Given the description of an element on the screen output the (x, y) to click on. 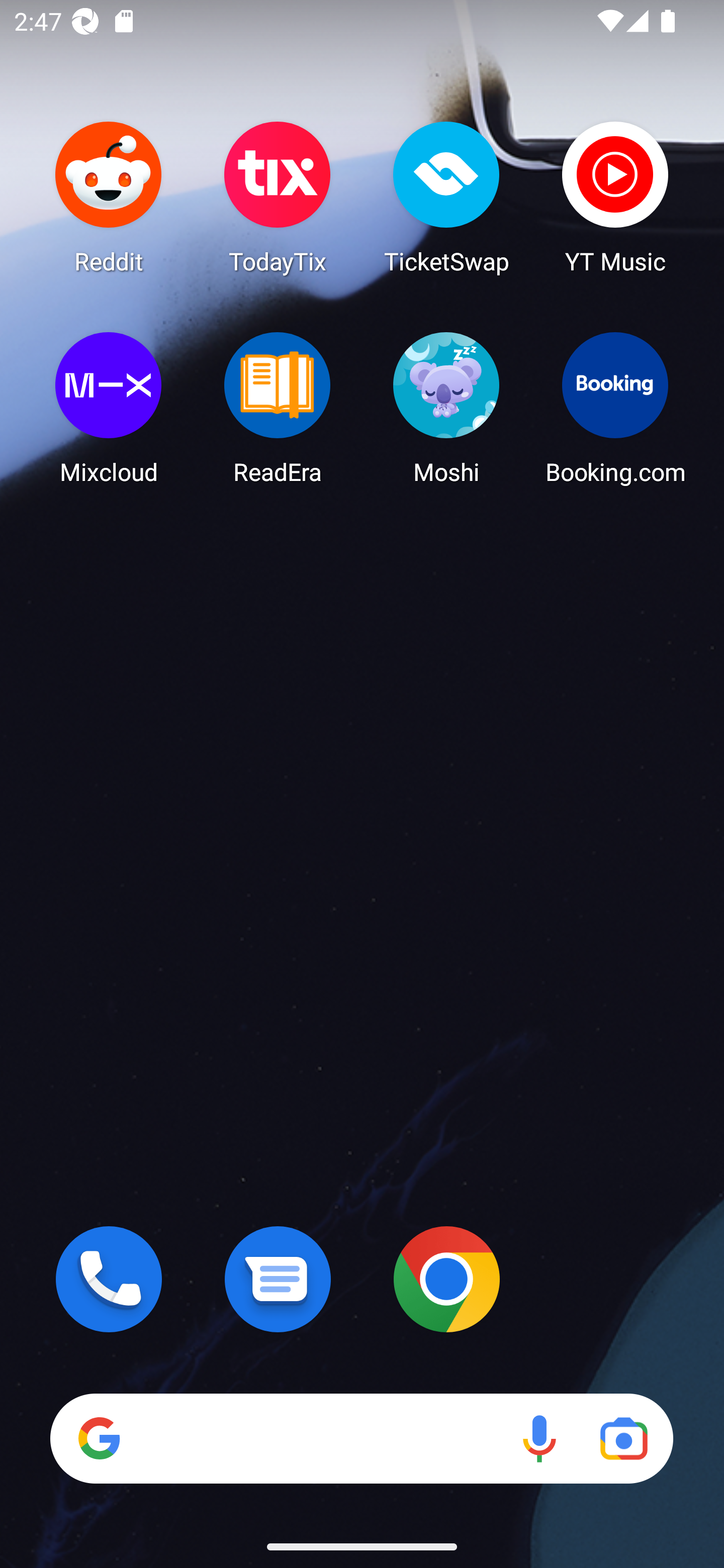
Reddit (108, 196)
TodayTix (277, 196)
TicketSwap (445, 196)
YT Music (615, 196)
Mixcloud (108, 407)
ReadEra (277, 407)
Moshi (445, 407)
Booking.com (615, 407)
Phone (108, 1279)
Messages (277, 1279)
Chrome (446, 1279)
Search Voice search Google Lens (361, 1438)
Voice search (539, 1438)
Google Lens (623, 1438)
